Given the description of an element on the screen output the (x, y) to click on. 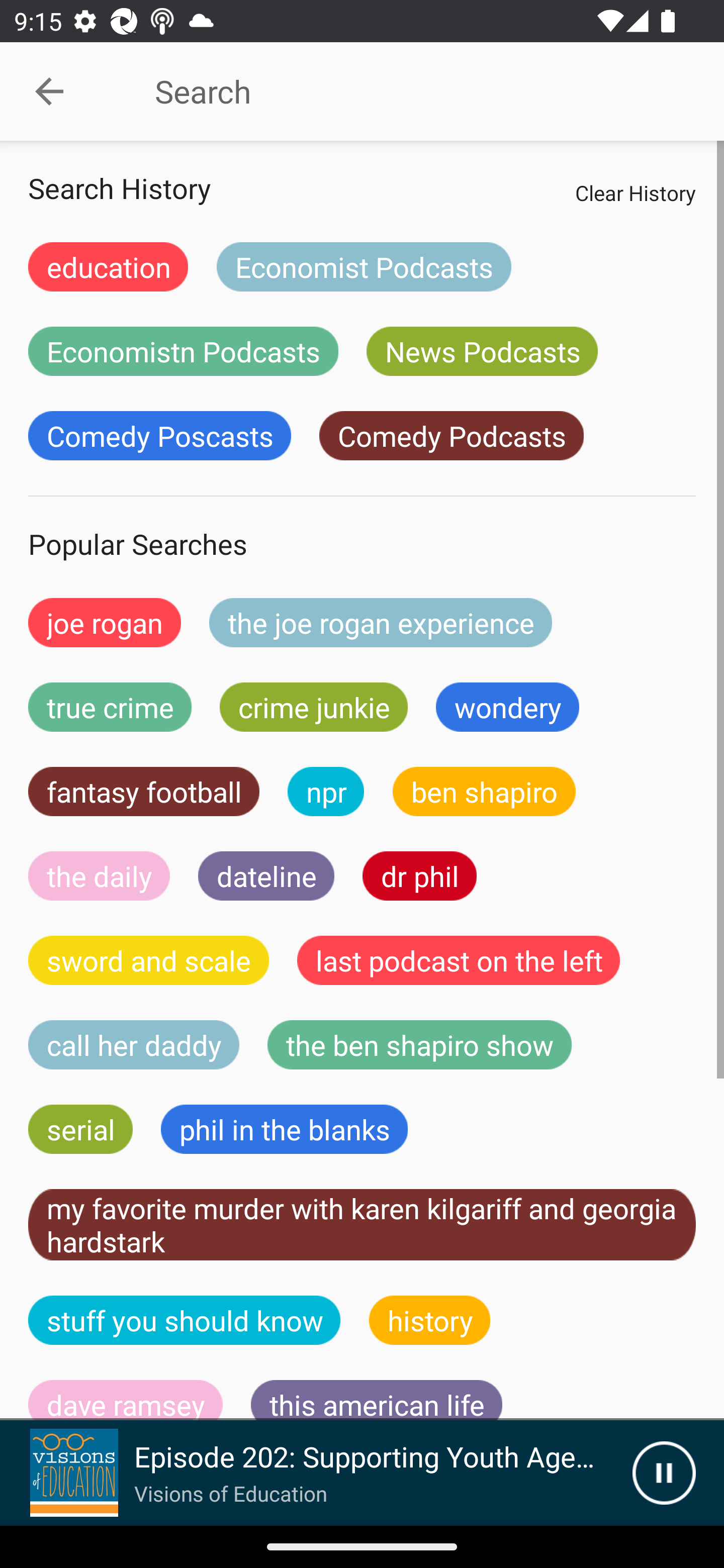
Collapse (49, 91)
Search (407, 91)
Clear History (634, 192)
education (108, 266)
Economist Podcasts (363, 266)
Economistn Podcasts (183, 351)
News Podcasts (482, 351)
Comedy Poscasts (159, 435)
Comedy Podcasts (451, 435)
joe rogan (104, 622)
the joe rogan experience (380, 622)
true crime (109, 707)
crime junkie (313, 707)
wondery (507, 707)
fantasy football (143, 791)
npr (325, 791)
ben shapiro (483, 791)
the daily (99, 875)
dateline (266, 875)
dr phil (419, 875)
sword and scale (148, 960)
last podcast on the left (458, 960)
call her daddy (133, 1044)
the ben shapiro show (419, 1044)
serial (80, 1128)
phil in the blanks (283, 1128)
stuff you should know (184, 1320)
history (429, 1320)
dave ramsey (125, 1399)
this american life (376, 1399)
Pause (663, 1472)
